Given the description of an element on the screen output the (x, y) to click on. 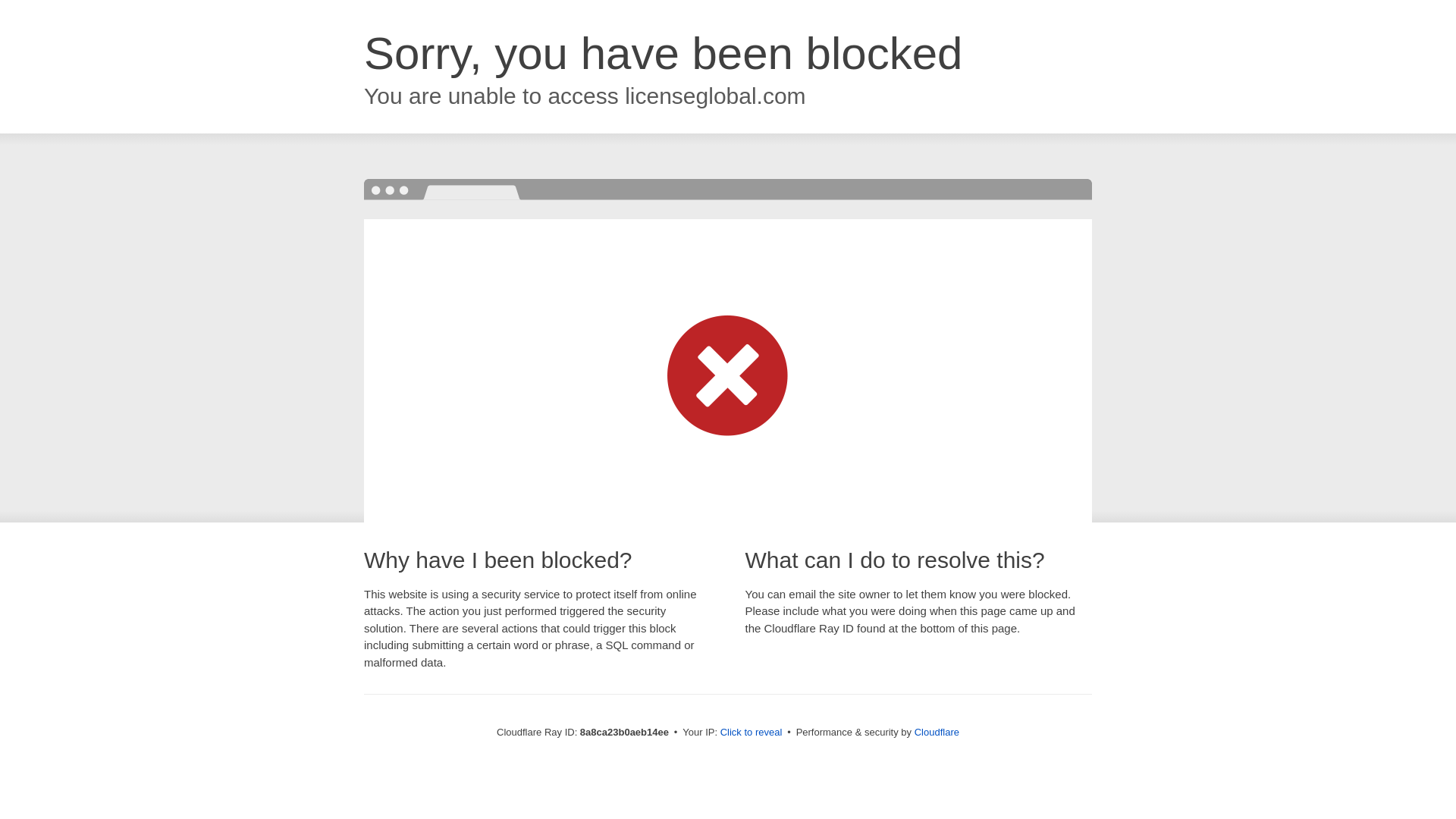
Click to reveal (751, 732)
Cloudflare (936, 731)
